Given the description of an element on the screen output the (x, y) to click on. 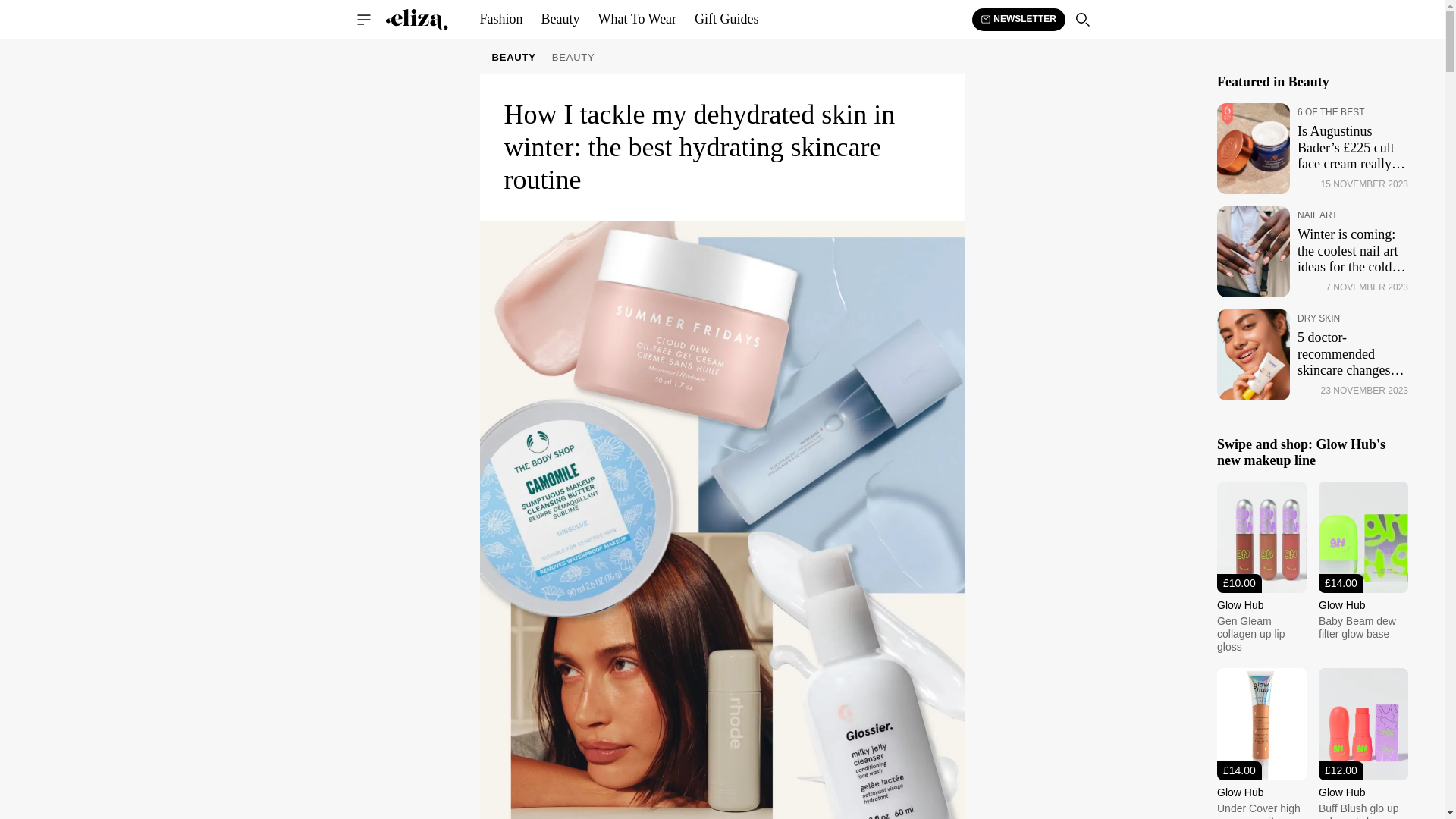
What To Wear (637, 20)
NEWSLETTER (1018, 18)
Fashion (500, 20)
Gift Guides (726, 20)
BEAUTY (513, 56)
Beauty (560, 20)
